Given the description of an element on the screen output the (x, y) to click on. 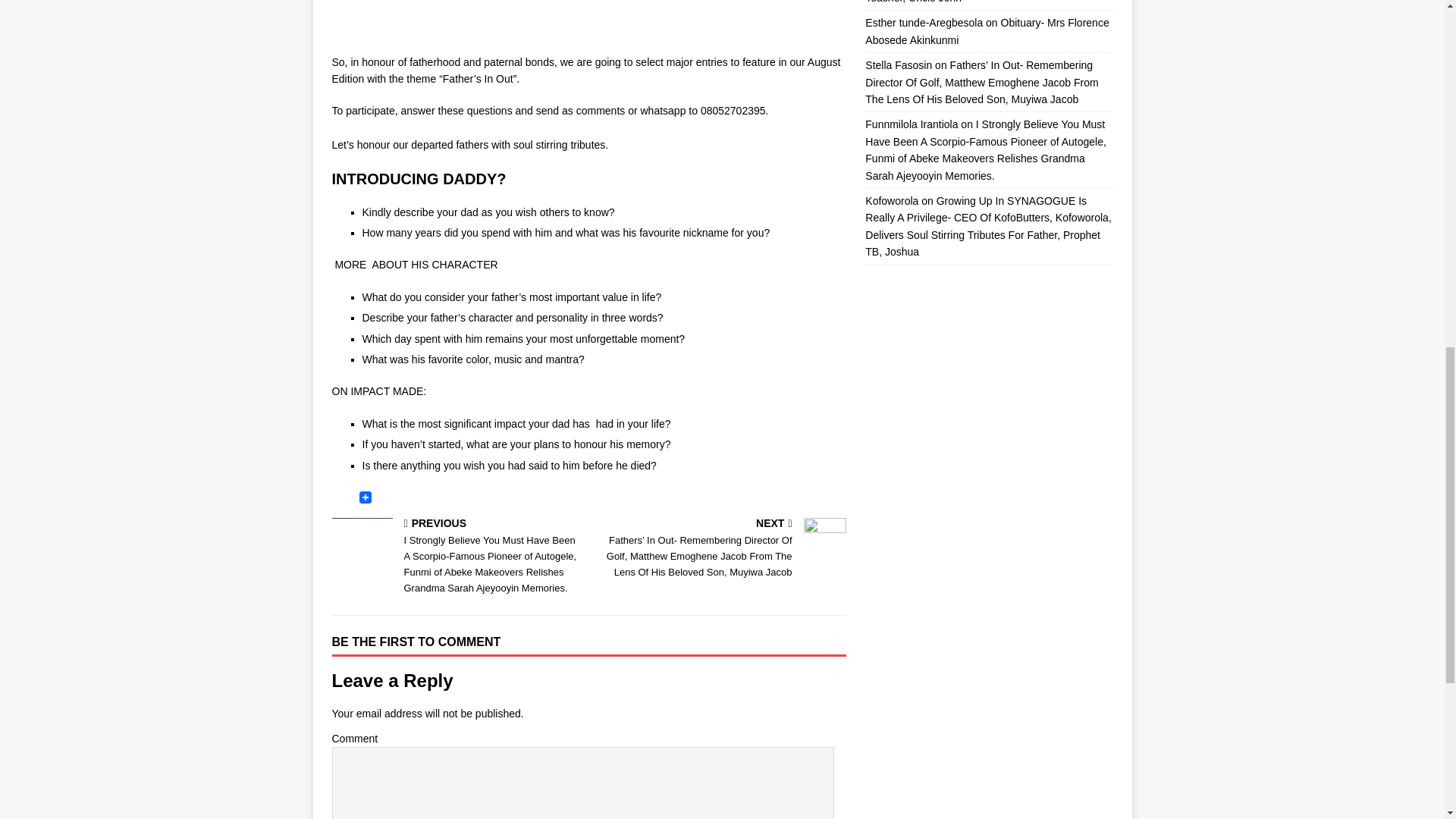
Obituary- Mrs Florence Abosede Akinkunmi (986, 30)
LOM (588, 19)
